Given the description of an element on the screen output the (x, y) to click on. 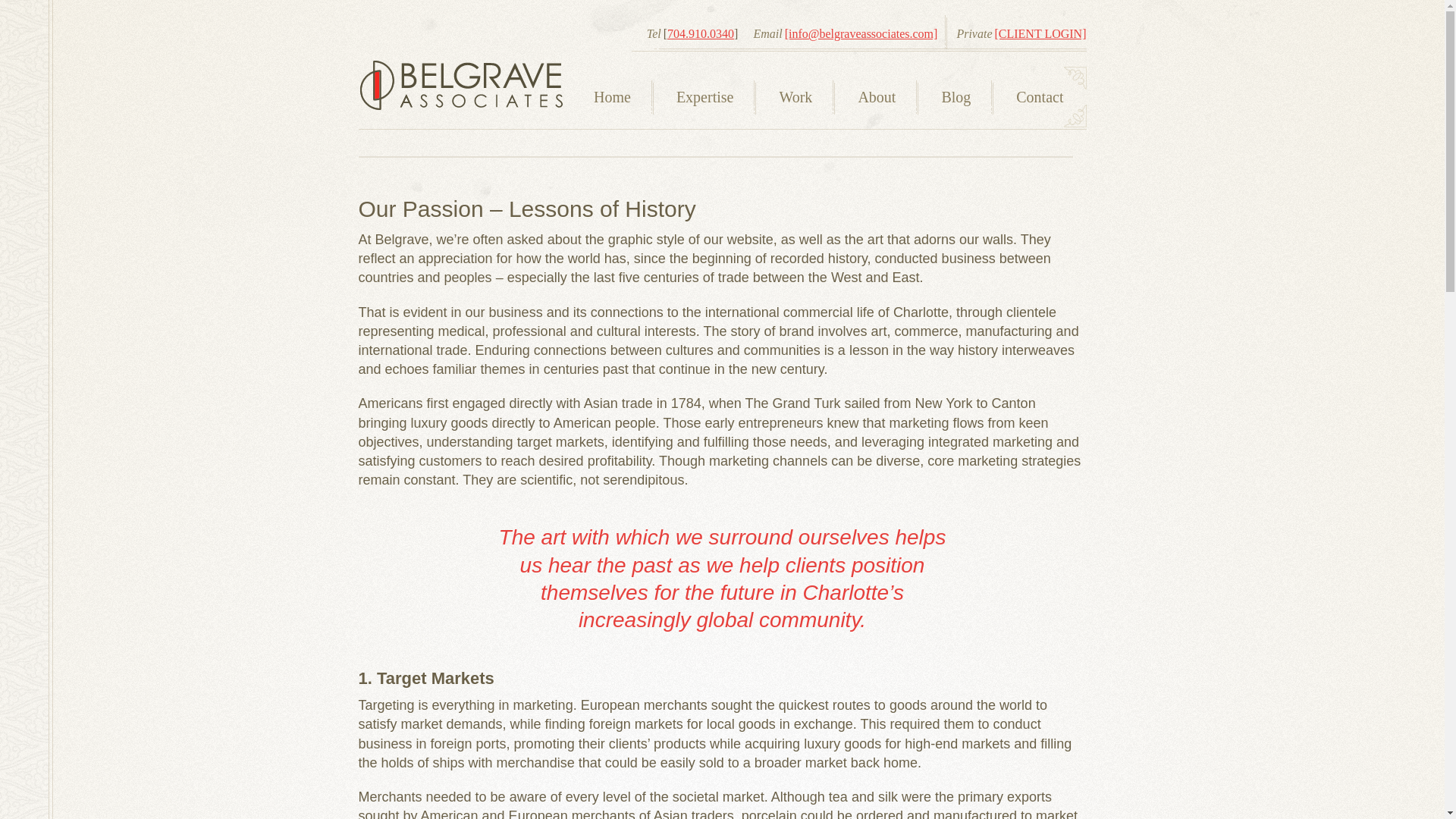
Work (794, 97)
Belgrave Associates (460, 84)
Blog (955, 97)
About (876, 97)
Home (611, 97)
Expertise (705, 97)
704.910.0340 (699, 33)
Contact (1039, 97)
